Given the description of an element on the screen output the (x, y) to click on. 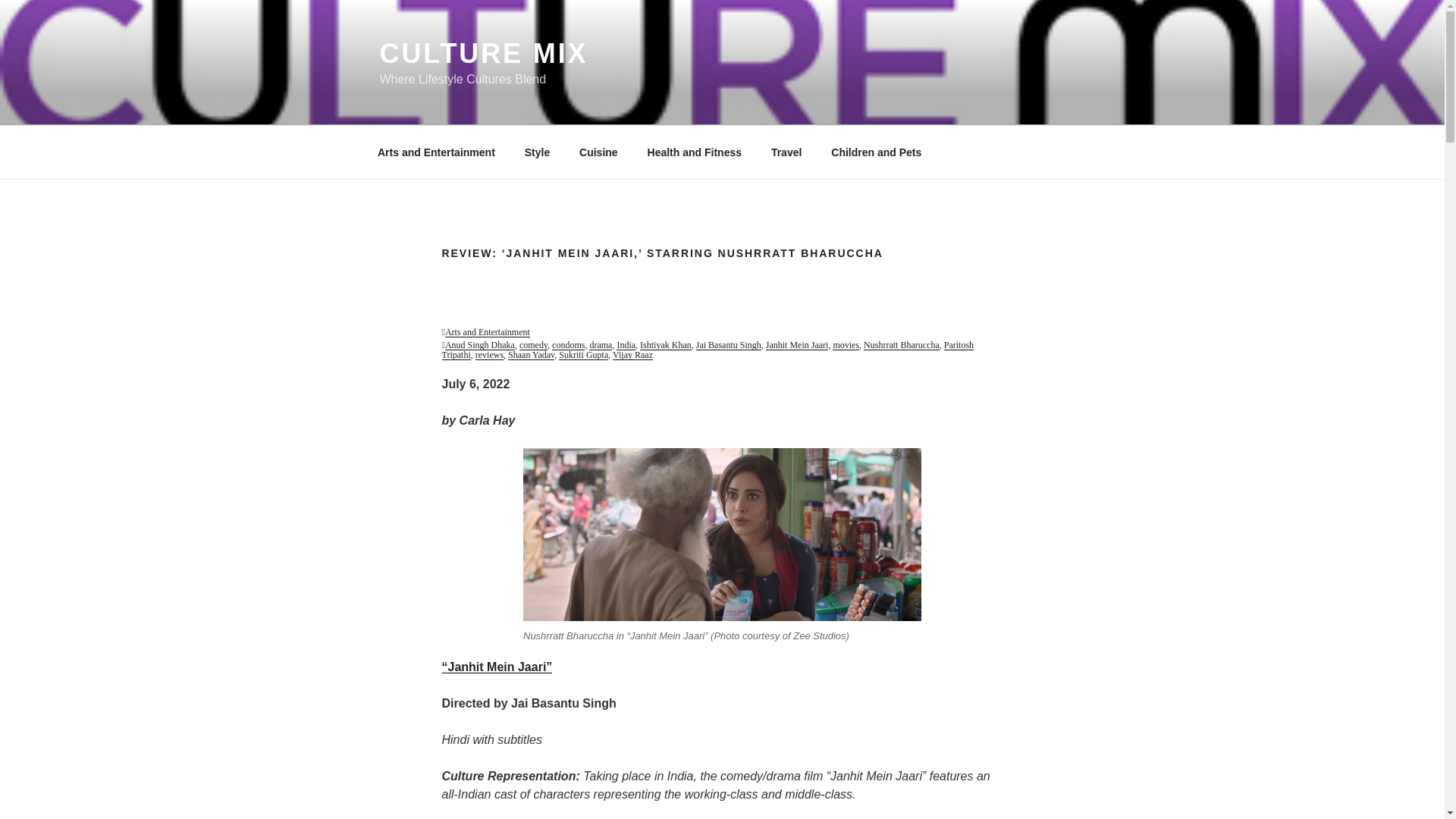
reviews (489, 354)
CULTURE MIX (483, 52)
Children and Pets (876, 151)
movies (845, 344)
Janhit Mein Jaari (796, 344)
Ishtiyak Khan (665, 344)
Vijay Raaz (632, 354)
Shaan Yadav (531, 354)
Paritosh Tripathi (707, 349)
Anud Singh Dhaka (480, 344)
Arts and Entertainment (436, 151)
Arts and Entertainment (487, 331)
Health and Fitness (693, 151)
Nushrratt Bharuccha (901, 344)
comedy (533, 344)
